Given the description of an element on the screen output the (x, y) to click on. 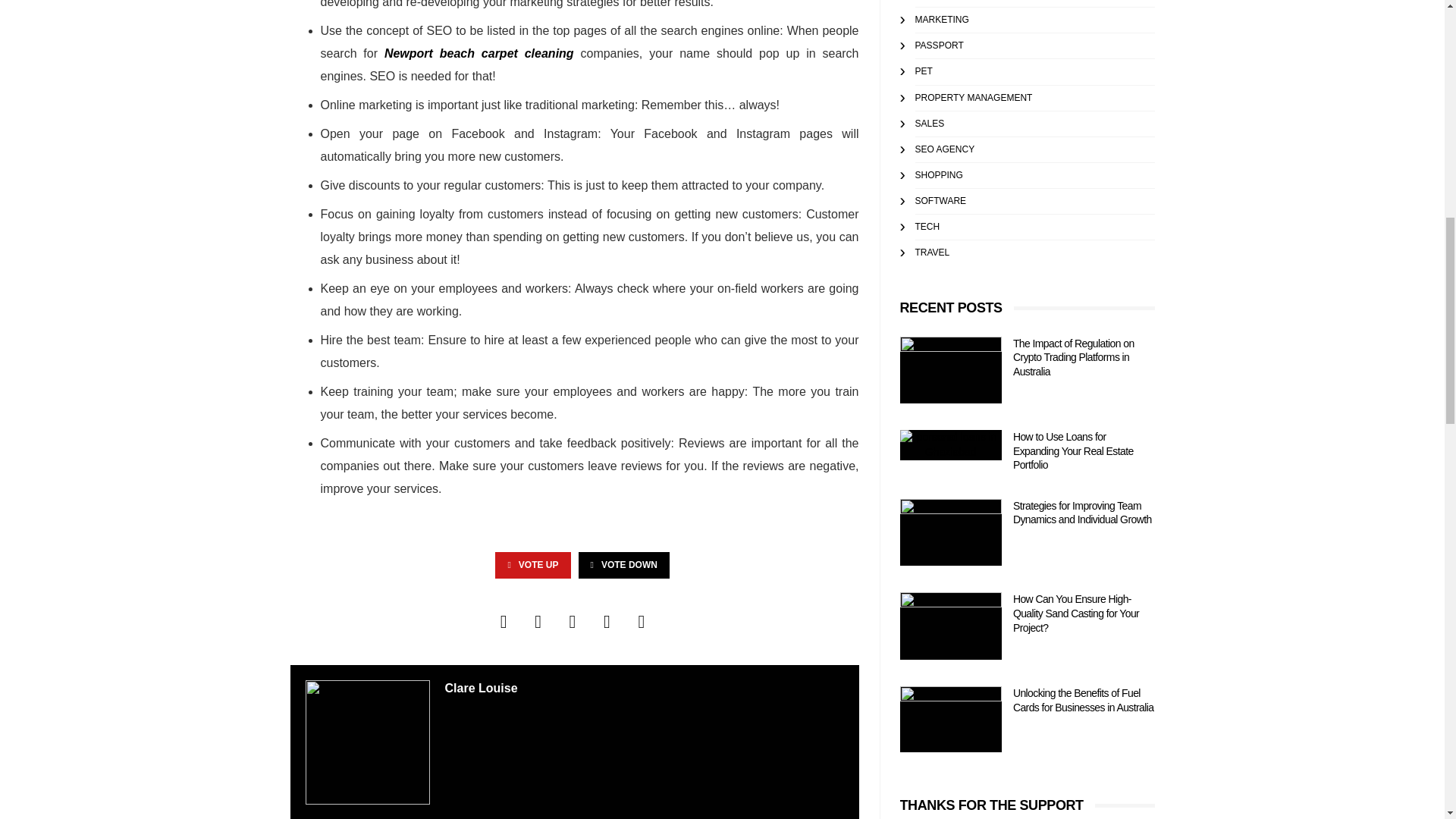
VOTE UP (532, 565)
Strategies for Improving Team Dynamics and Individual Growth (950, 532)
VOTE DOWN (623, 565)
Clare Louise (480, 687)
Newport beach carpet cleaning (478, 52)
How to Use Loans for Expanding Your Real Estate Portfolio (950, 444)
